Given the description of an element on the screen output the (x, y) to click on. 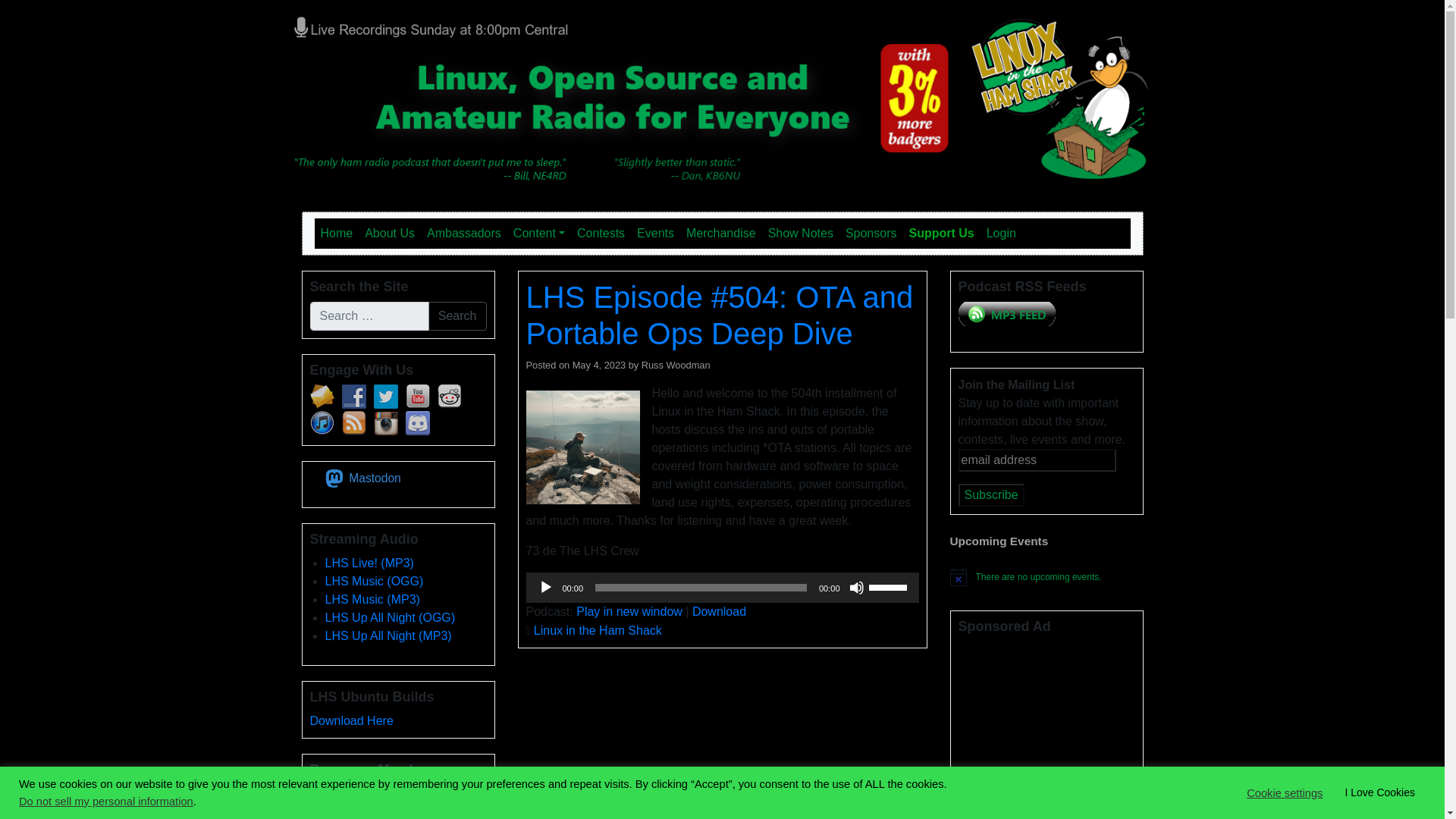
Support Us (940, 233)
Engage with us via RSS (352, 422)
Engage with us via iTunes (320, 422)
Home (336, 233)
Linux in the Ham Shack (461, 25)
Engage with us via Instagram (384, 422)
Engage with us via Reddit (448, 396)
Subscribe (991, 495)
Contests (600, 233)
Engage with us via YouTube (416, 396)
